Given the description of an element on the screen output the (x, y) to click on. 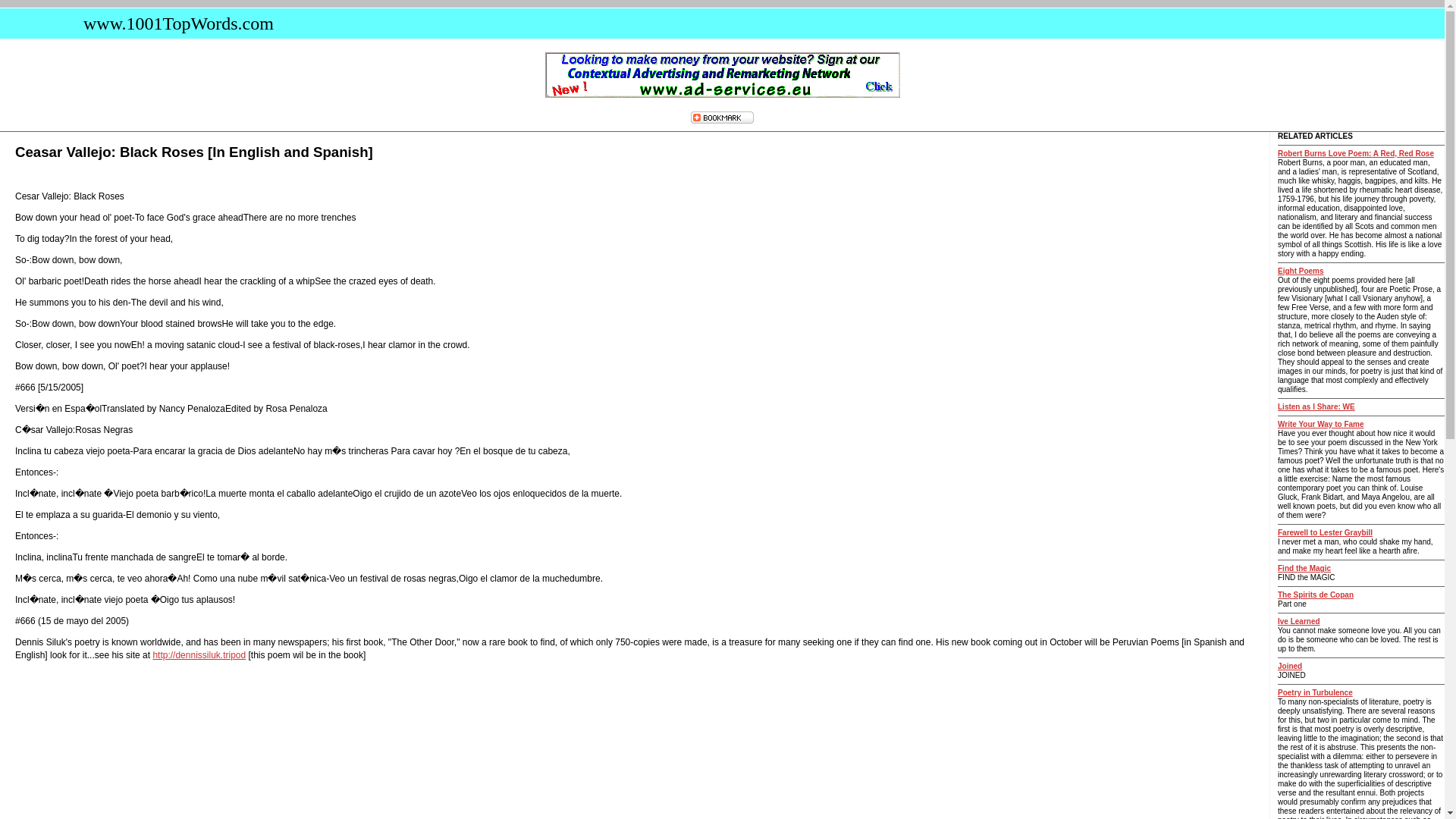
Listen as I Share: WE (1316, 406)
Eight Poems (1300, 270)
The Spirits de Copan (1316, 594)
Find the Magic (1304, 568)
Poetry in Turbulence (1315, 692)
Robert Burns Love Poem: A Red, Red Rose (1356, 153)
Farewell to Lester Graybill (1325, 532)
Ive Learned (1299, 621)
Joined (1289, 665)
Write Your Way to Fame (1321, 424)
www.1001TopWords.com (174, 23)
